Given the description of an element on the screen output the (x, y) to click on. 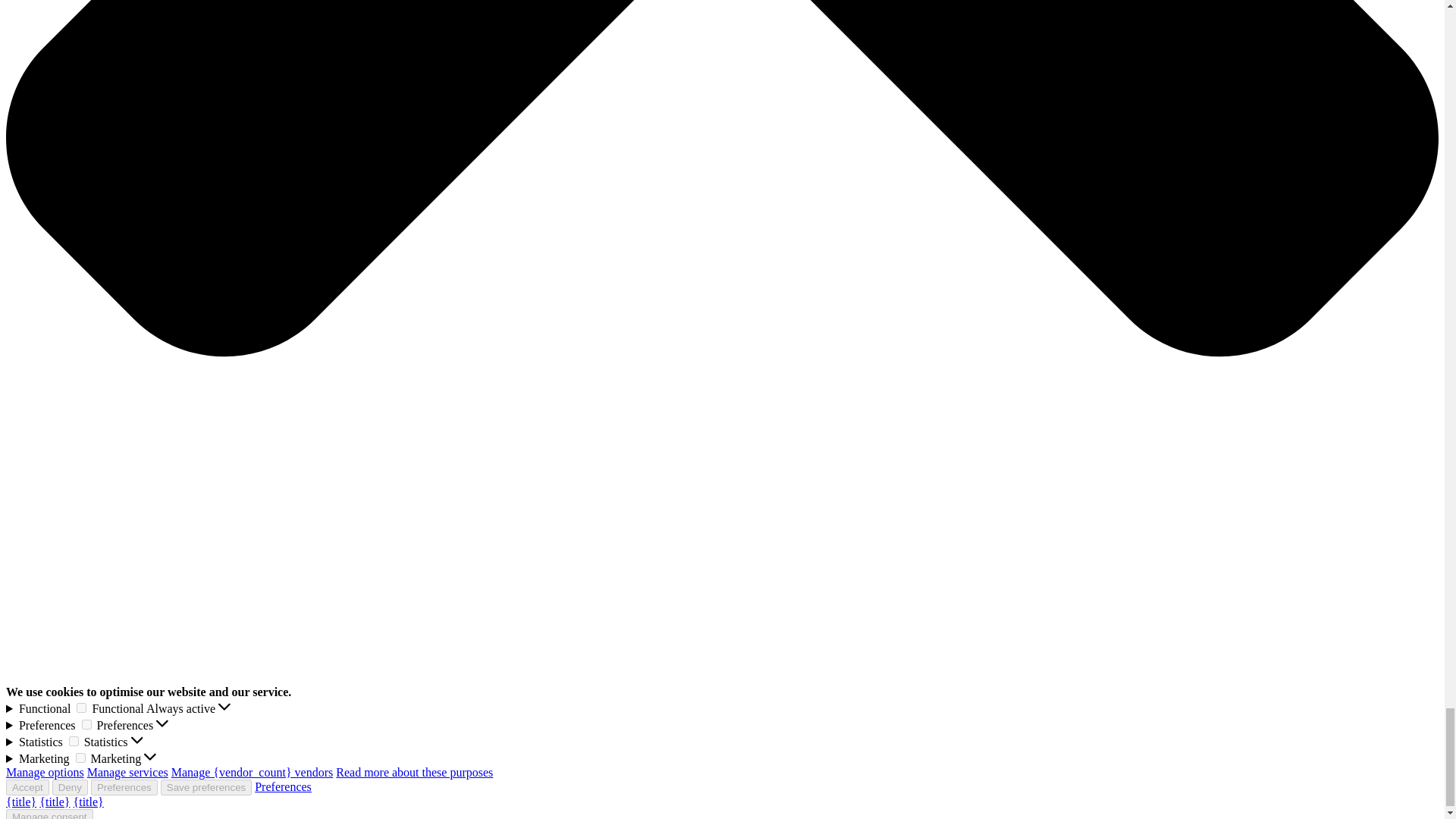
1 (80, 757)
1 (86, 724)
1 (81, 707)
1 (73, 741)
